Given the description of an element on the screen output the (x, y) to click on. 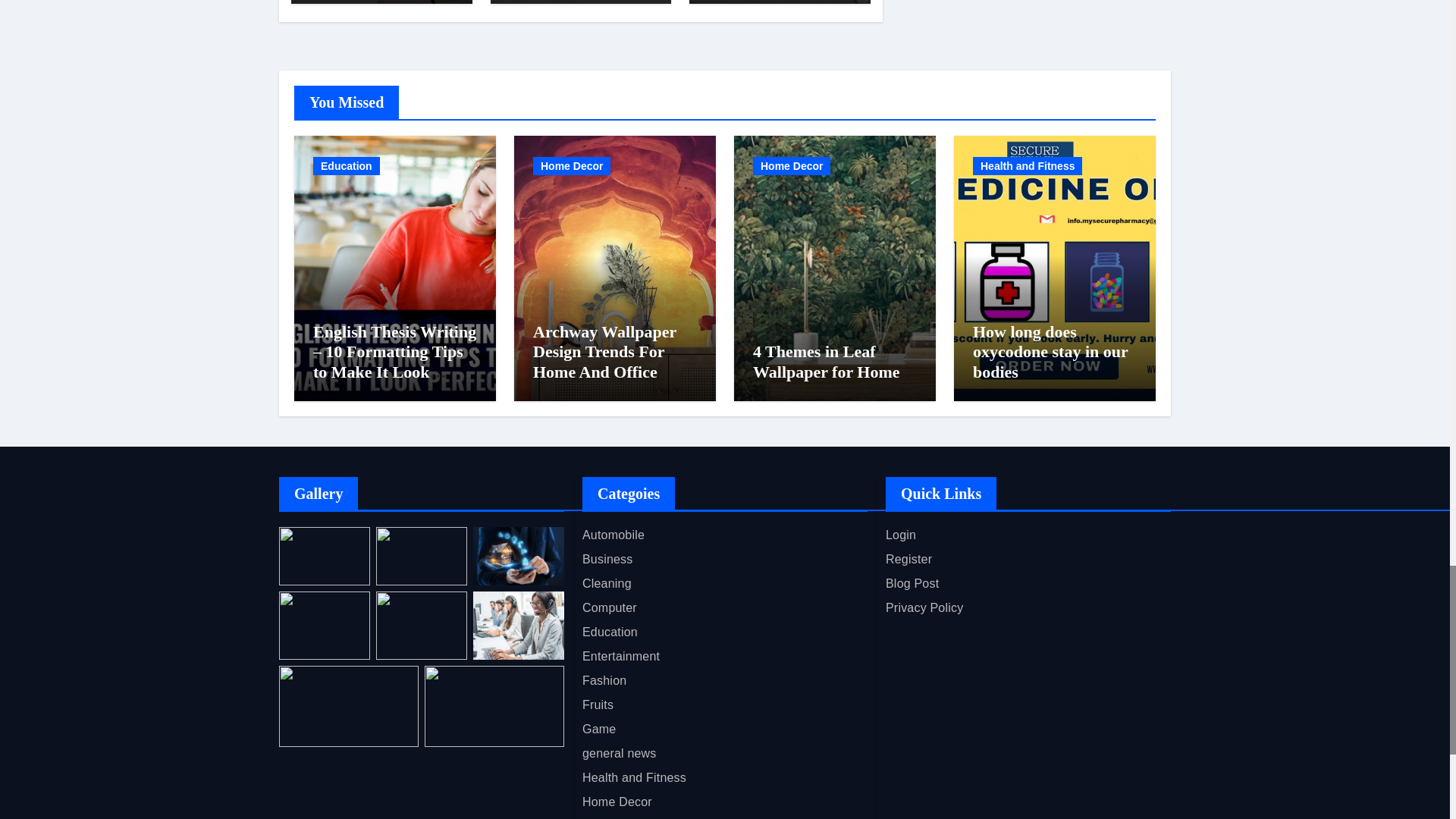
Permalink to: How long does oxycodone stay in our bodies (1049, 351)
Permalink to: 4 Themes in Leaf Wallpaper for Home (825, 361)
